Given the description of an element on the screen output the (x, y) to click on. 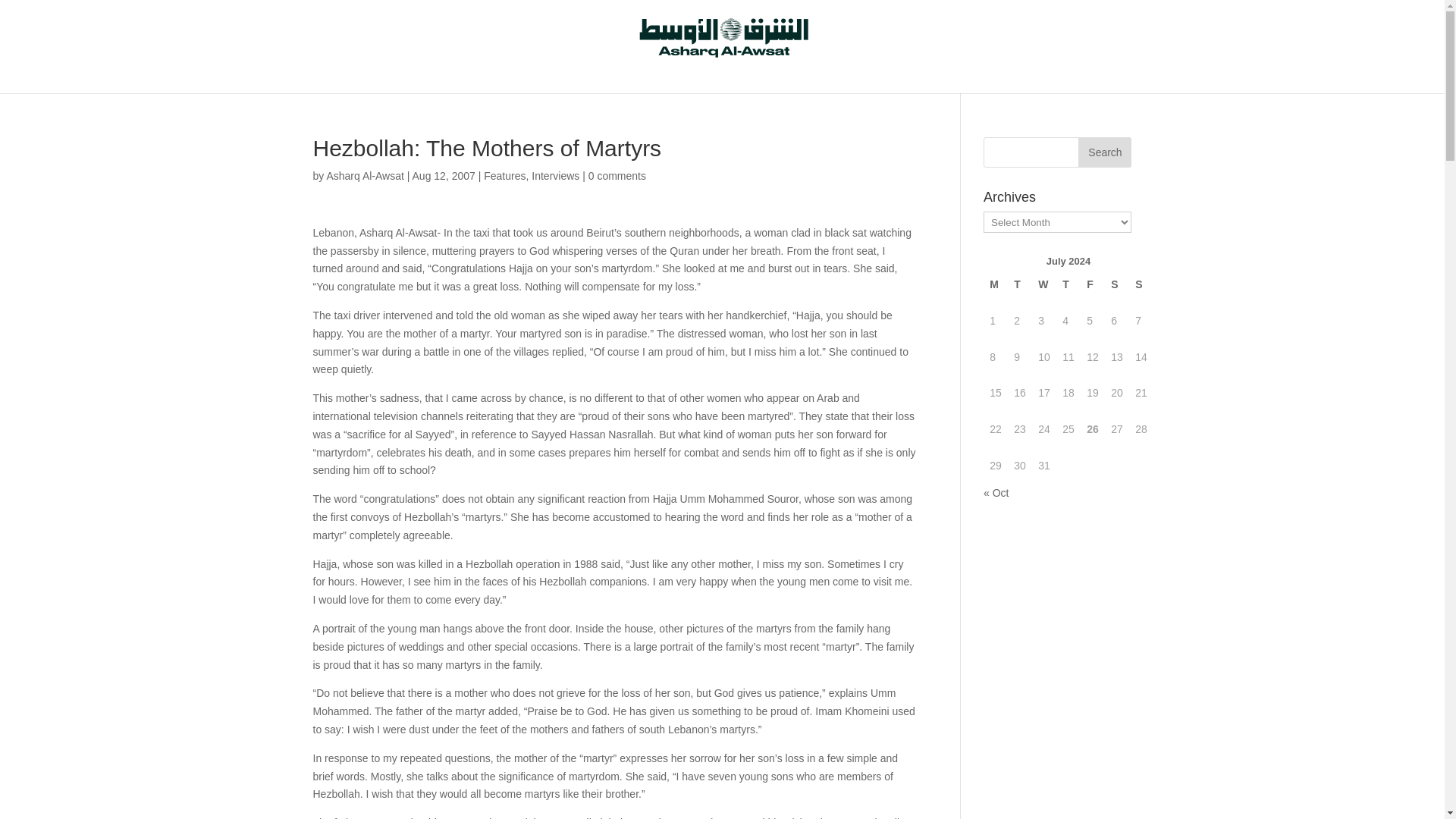
Posts by Asharq Al-Awsat (364, 175)
Asharq Al-Awsat (364, 175)
Search (1104, 152)
Interviews (555, 175)
0 comments (617, 175)
Search (1104, 152)
Features (504, 175)
